Given the description of an element on the screen output the (x, y) to click on. 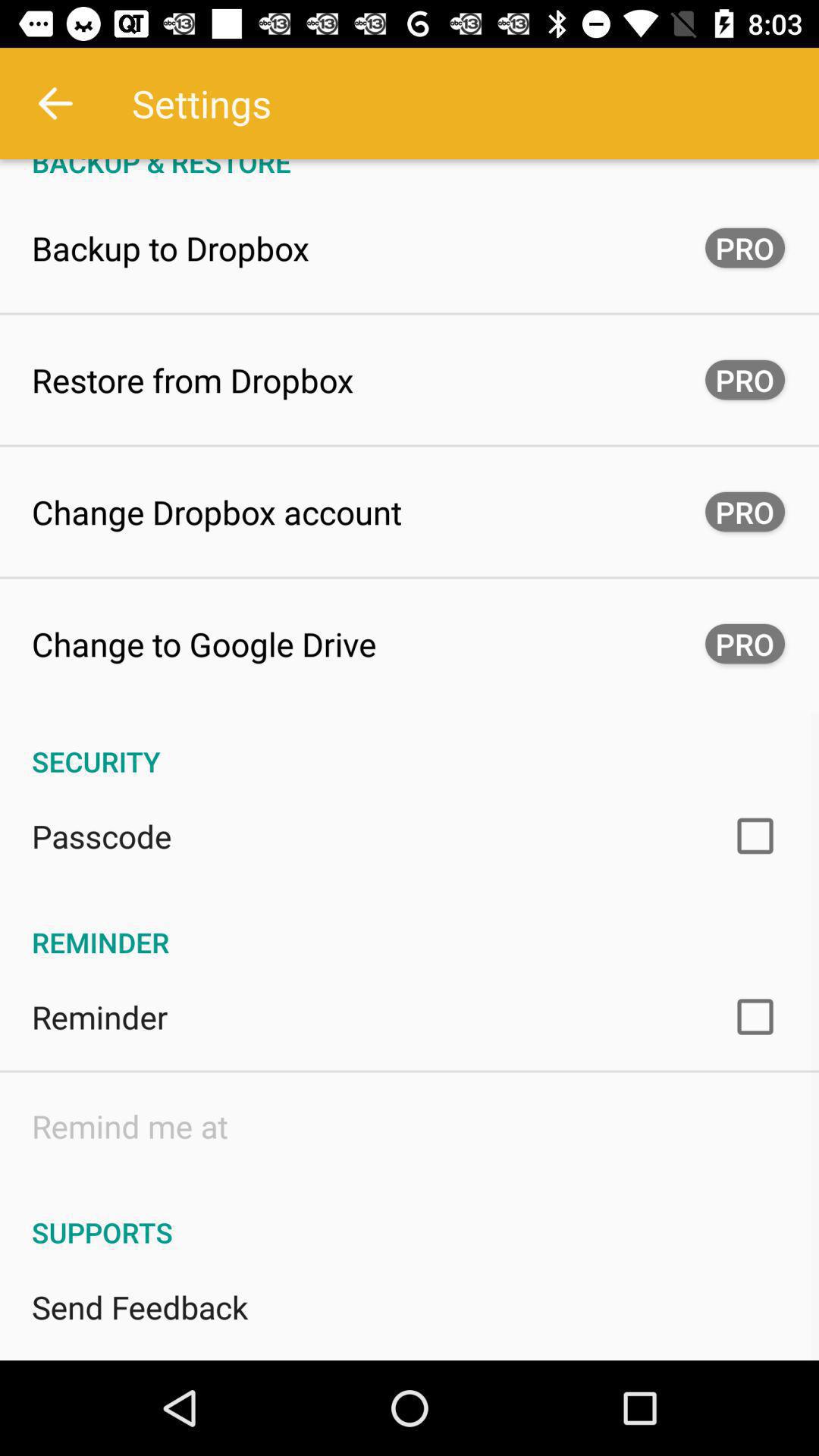
launch the item next to the pro button (216, 511)
